Given the description of an element on the screen output the (x, y) to click on. 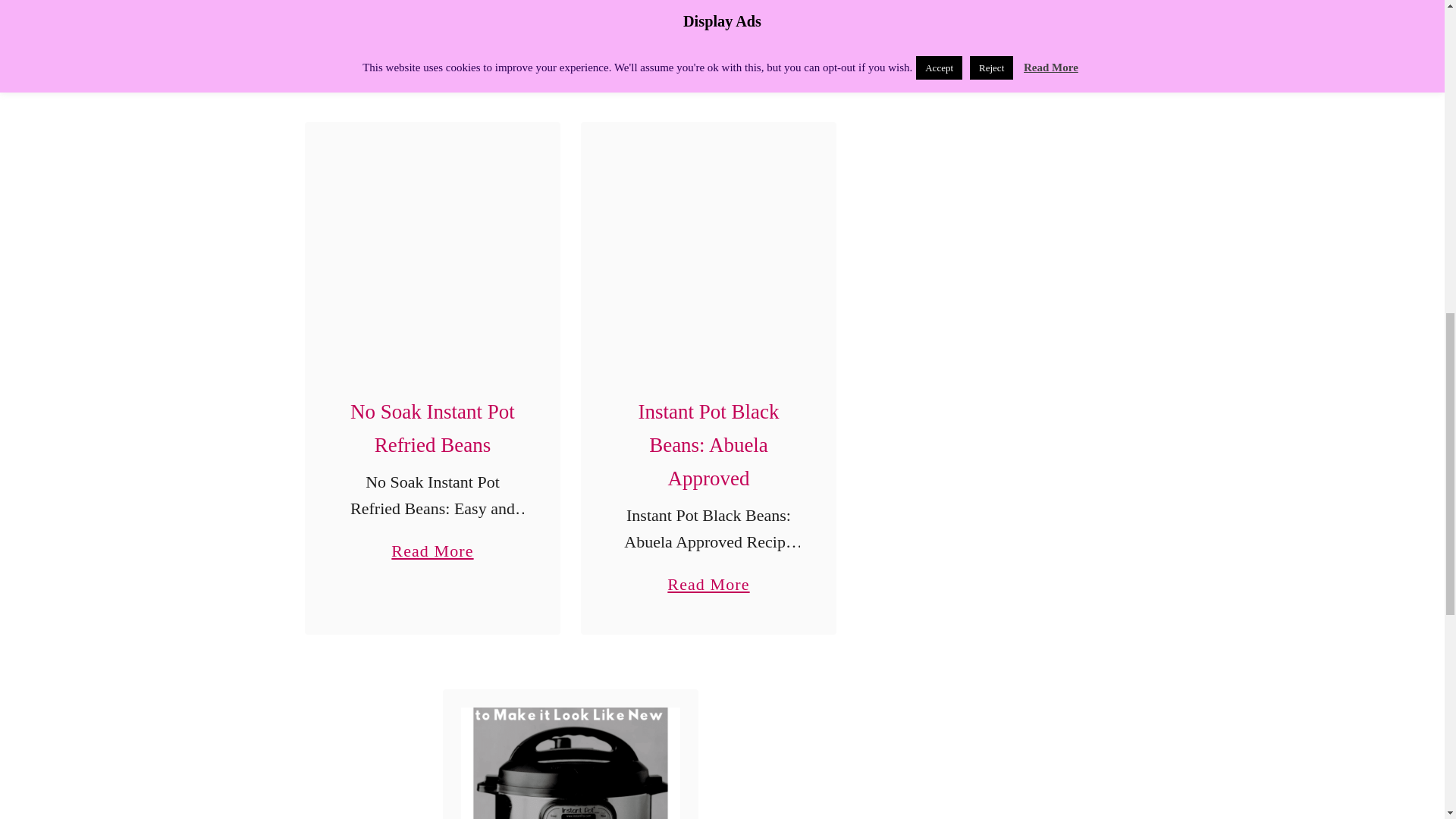
No Soak Instant Pot Refried Beans (432, 249)
How to Deep Clean Your Instant Pot (570, 763)
Instant Pot Black Beans: Abuela Approved (708, 249)
Instant Pot Black Beans: Abuela Approved (432, 543)
No Soak Instant Pot Refried Beans (707, 577)
